Given the description of an element on the screen output the (x, y) to click on. 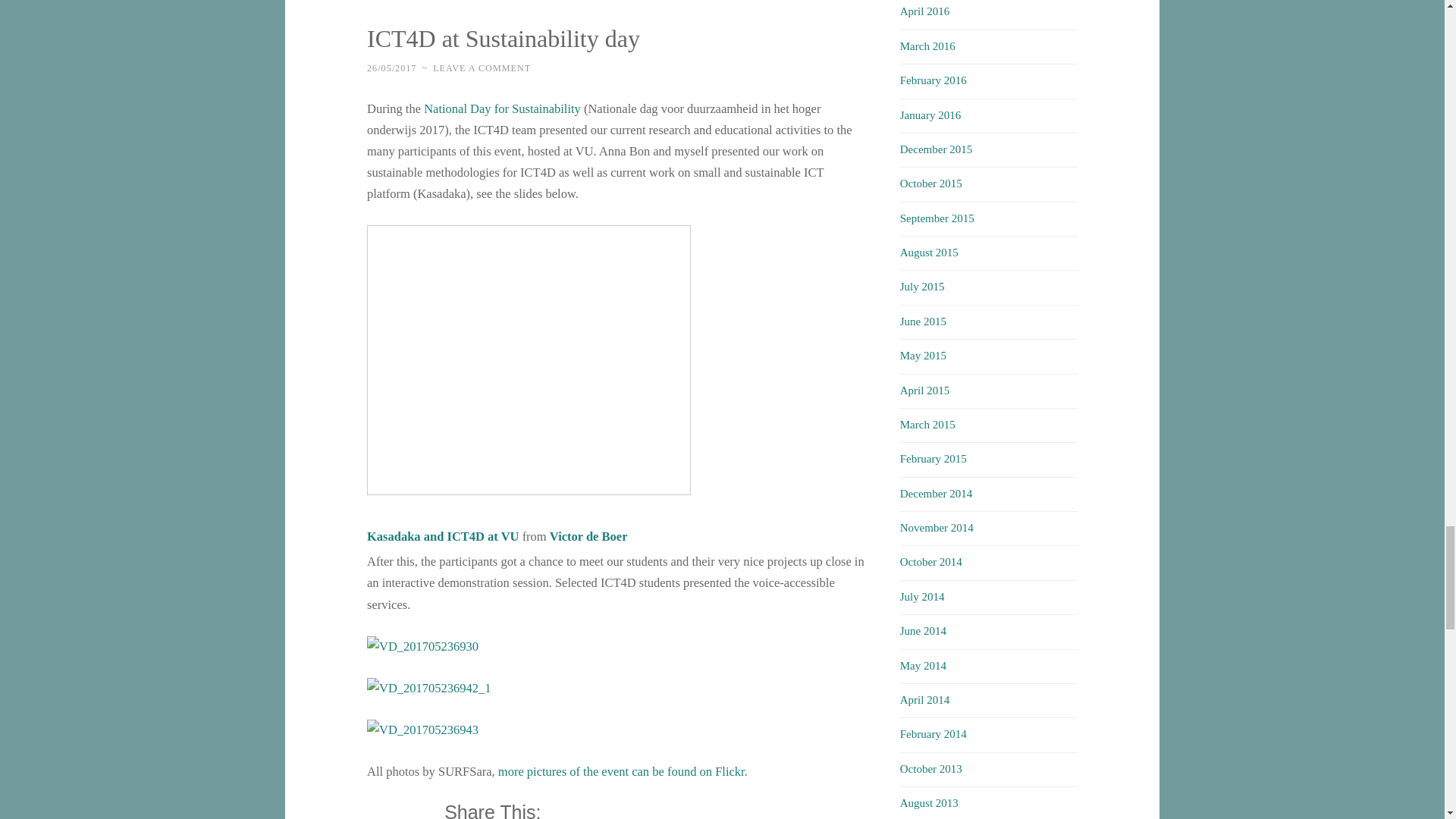
Kasadaka and ICT4D at VU (528, 360)
Kasadaka and ICT4D at VU (442, 536)
